Given the description of an element on the screen output the (x, y) to click on. 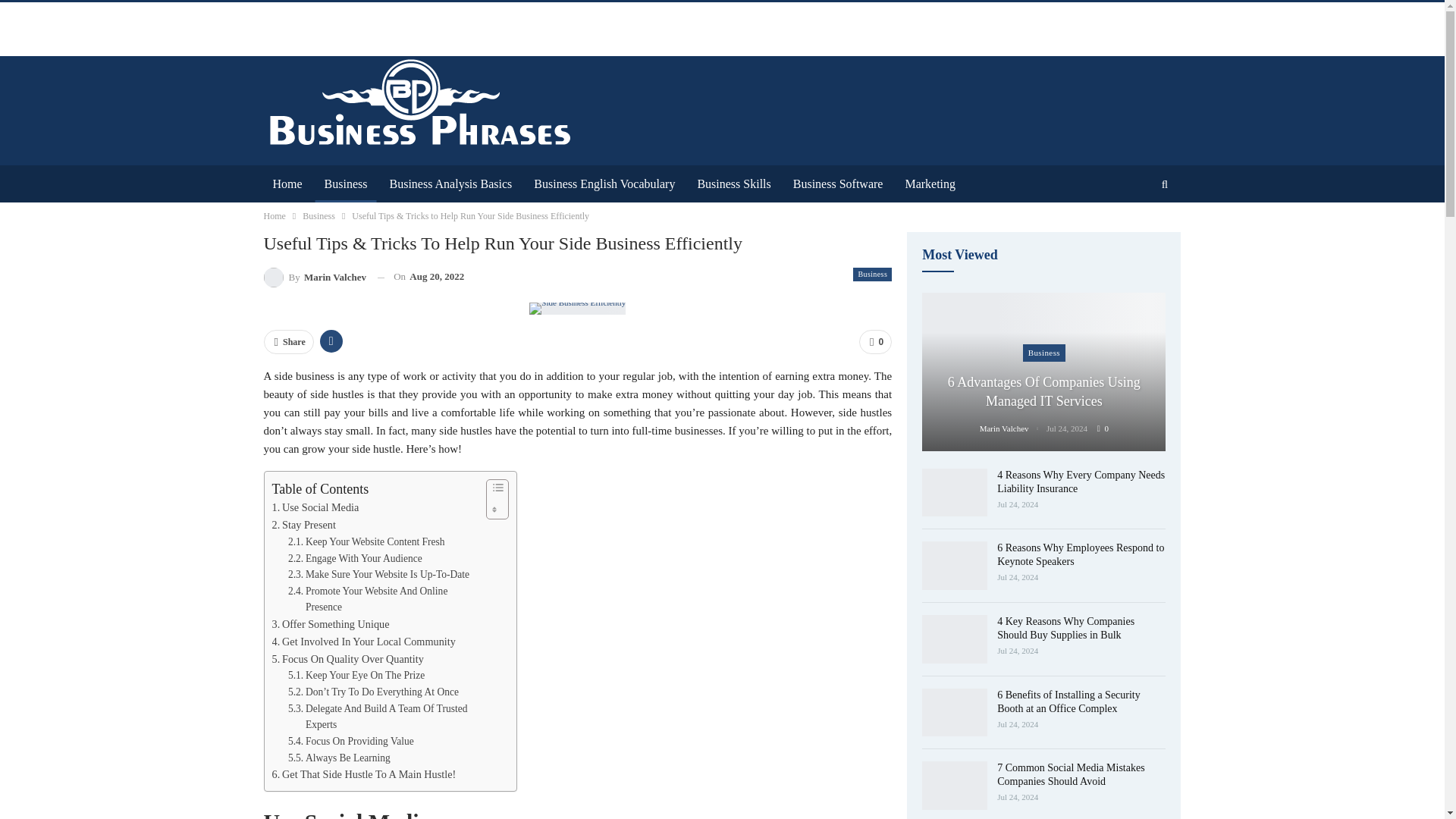
Engage With Your Audience (355, 558)
Make Sure Your Website Is Up-To-Date (378, 574)
Get That Side Hustle To A Main Hustle! (362, 773)
Business English Vocabulary (604, 184)
Focus On Quality Over Quantity (346, 659)
Always Be Learning (339, 758)
Always Be Learning (339, 758)
Focus On Quality Over Quantity (346, 659)
Business (346, 184)
Get Involved In Your Local Community (362, 641)
Keep Your Eye On The Prize (356, 675)
Offer Something Unique (329, 624)
Keep Your Website Content Fresh (366, 541)
Marketing (929, 184)
Stay Present (302, 524)
